Given the description of an element on the screen output the (x, y) to click on. 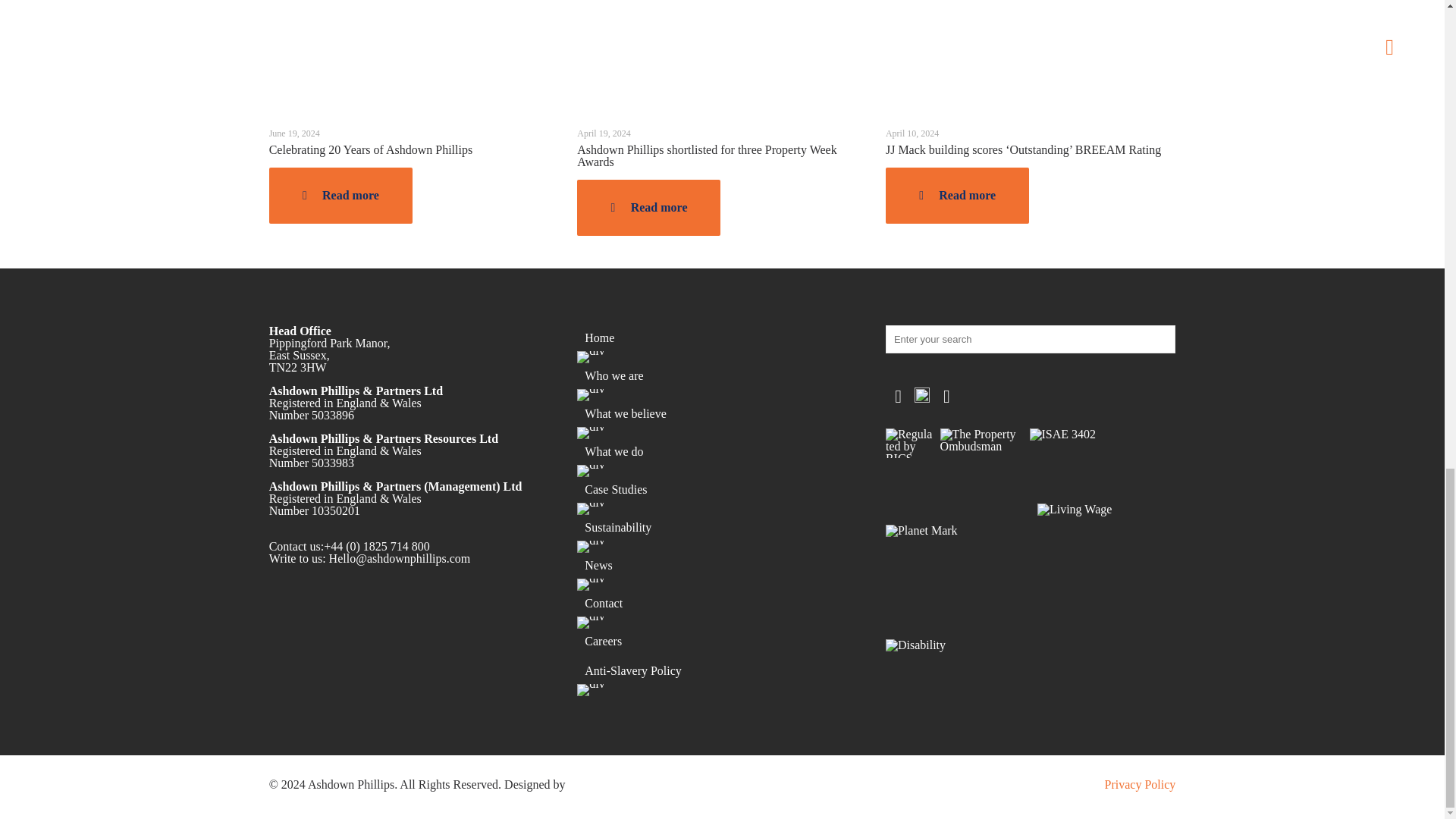
Ashdown Phillips shortlisted for three Property Week Awards (705, 155)
Celebrating 20 Years of Ashdown Phillips (370, 149)
Read more (340, 195)
Read more (648, 207)
